Given the description of an element on the screen output the (x, y) to click on. 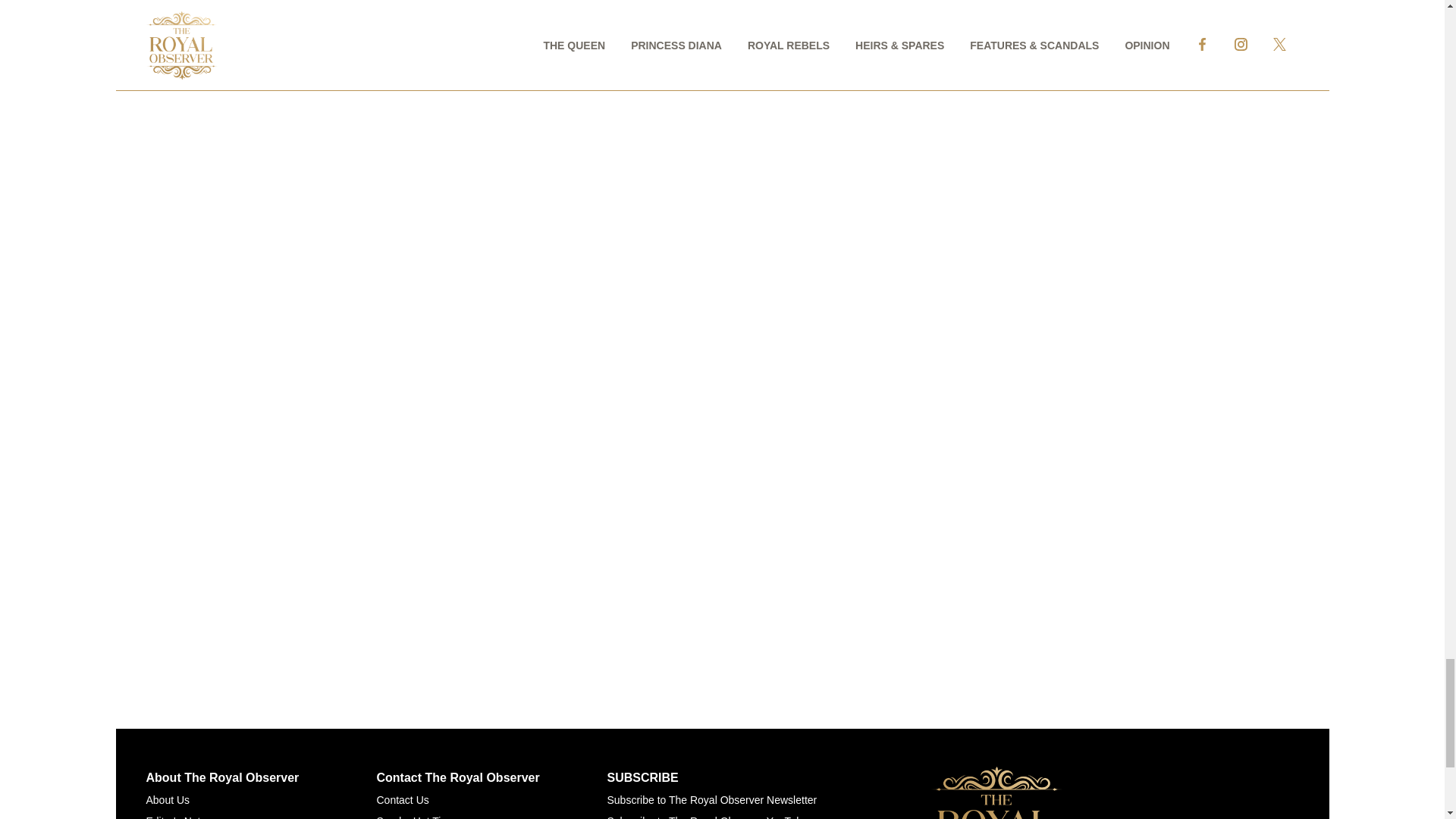
About Us (167, 799)
Editor's Notes (178, 816)
Editor's Notes (178, 816)
Send a Hot Tip (410, 816)
Send a Hot Tip (410, 816)
Contact Us (401, 799)
Contact Us (401, 799)
About Us (167, 799)
